Given the description of an element on the screen output the (x, y) to click on. 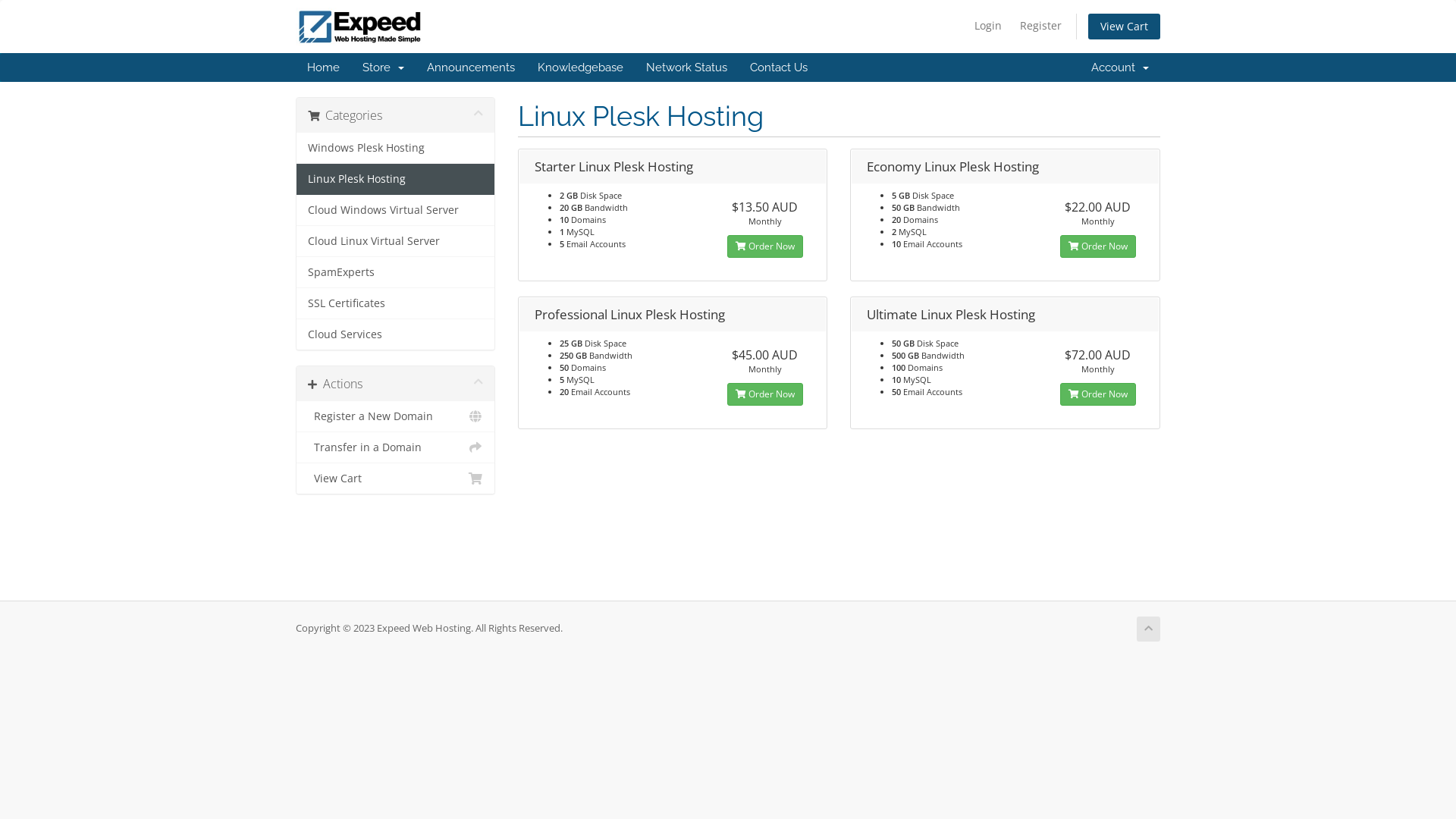
Network Status Element type: text (686, 67)
  View Cart Element type: text (395, 478)
Order Now Element type: text (1097, 393)
Login Element type: text (987, 25)
Home Element type: text (323, 67)
Account   Element type: text (1119, 67)
Cloud Linux Virtual Server Element type: text (395, 241)
Order Now Element type: text (765, 246)
Store   Element type: text (383, 67)
Cloud Windows Virtual Server Element type: text (395, 209)
Order Now Element type: text (765, 393)
Windows Plesk Hosting Element type: text (395, 147)
View Cart Element type: text (1124, 26)
Order Now Element type: text (1097, 246)
Linux Plesk Hosting Element type: text (395, 178)
Announcements Element type: text (470, 67)
Knowledgebase Element type: text (580, 67)
Cloud Services Element type: text (395, 334)
SSL Certificates Element type: text (395, 303)
  Register a New Domain Element type: text (395, 416)
  Transfer in a Domain Element type: text (395, 447)
Register Element type: text (1040, 25)
SpamExperts Element type: text (395, 272)
Contact Us Element type: text (778, 67)
